Given the description of an element on the screen output the (x, y) to click on. 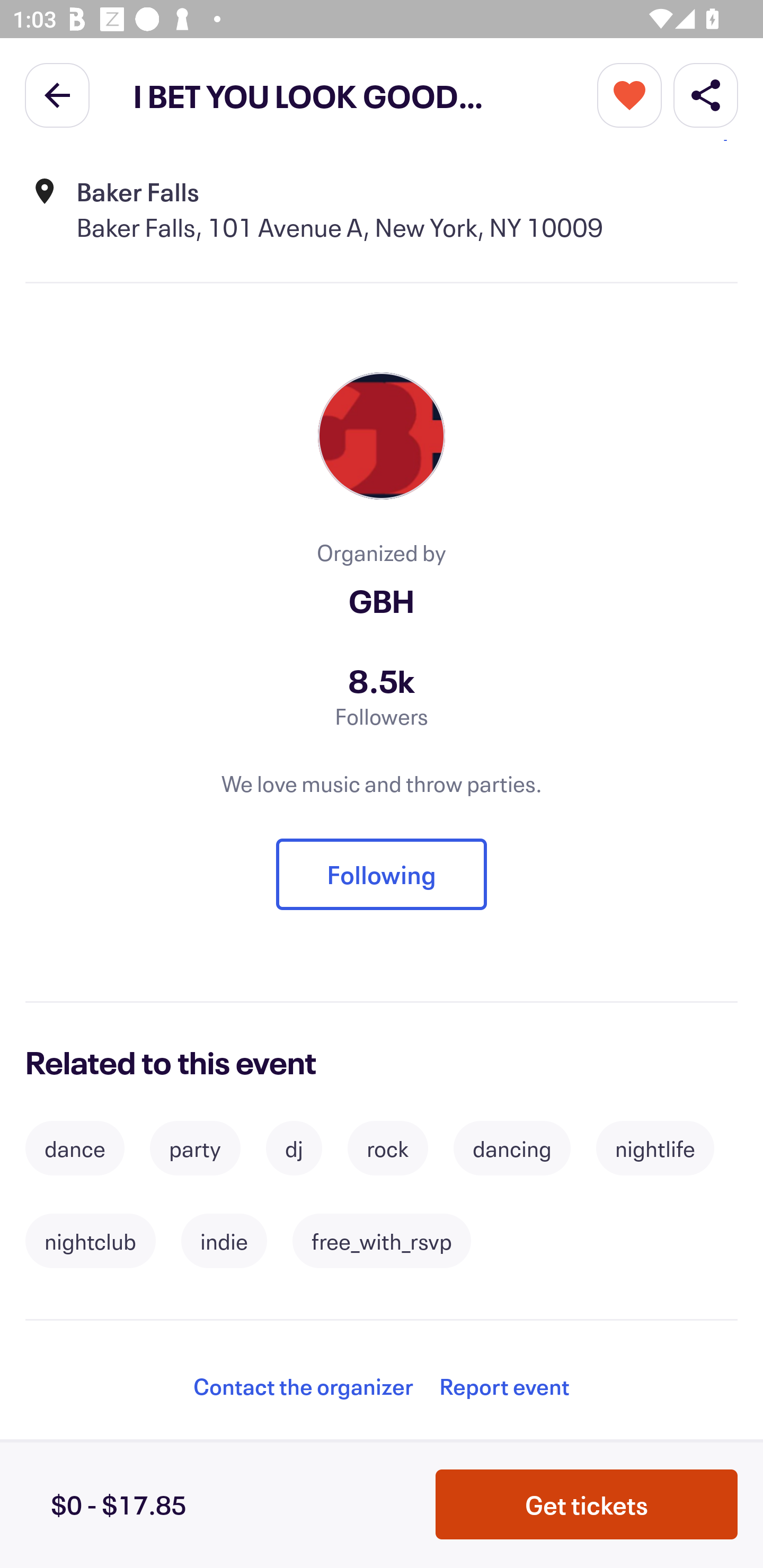
Back (57, 94)
More (629, 94)
Share (705, 94)
Organizer profile picture (381, 436)
GBH (381, 600)
Following (381, 873)
dance (74, 1148)
party (195, 1148)
dj (293, 1148)
rock (387, 1148)
dancing (511, 1148)
nightlife (654, 1148)
nightclub (90, 1240)
indie (224, 1240)
free_with_rsvp (381, 1240)
Contact the organizer (303, 1385)
Report event (504, 1385)
Get tickets (586, 1504)
